Given the description of an element on the screen output the (x, y) to click on. 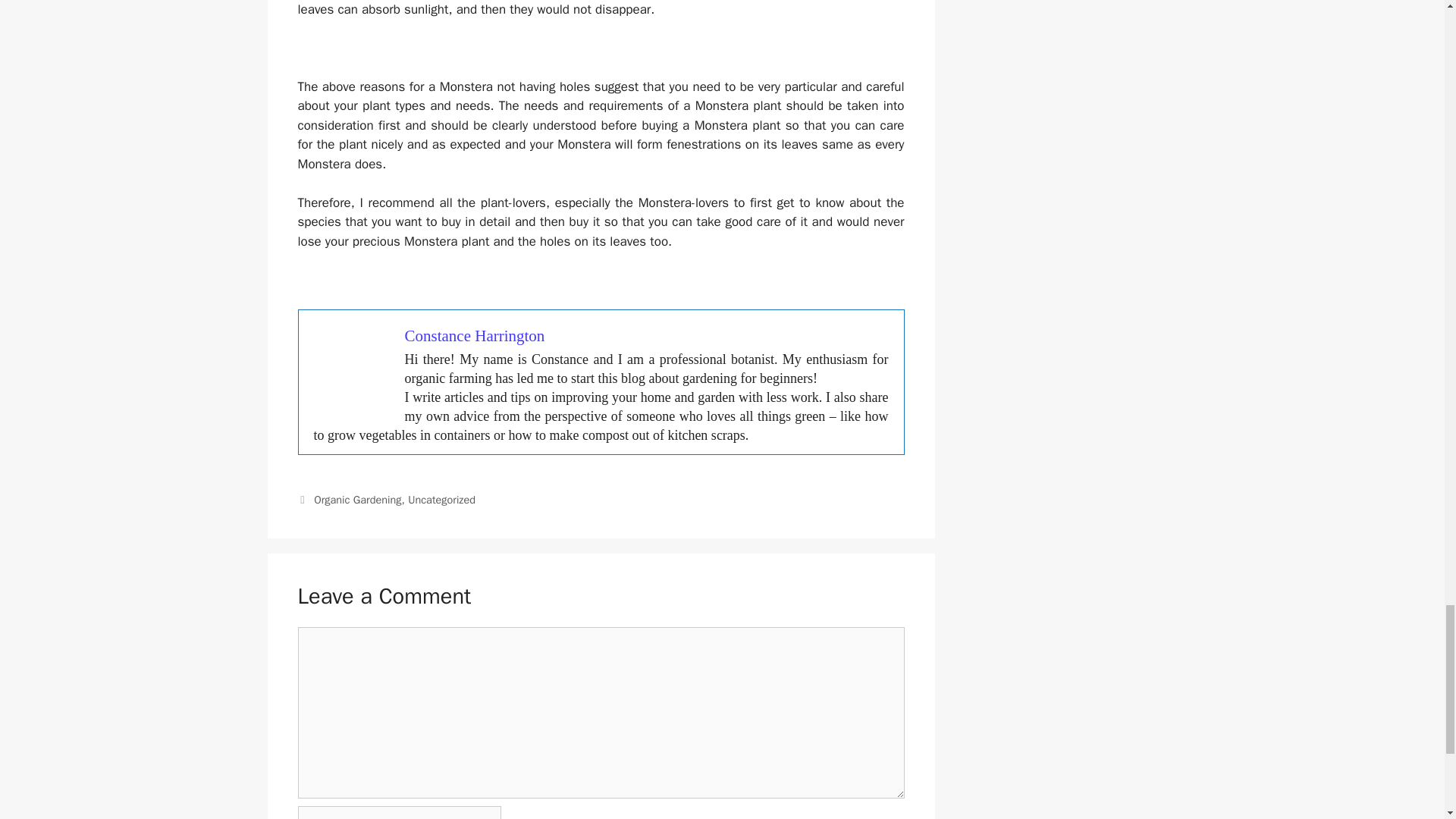
Organic Gardening (357, 499)
Uncategorized (441, 499)
Constance Harrington (474, 335)
